Given the description of an element on the screen output the (x, y) to click on. 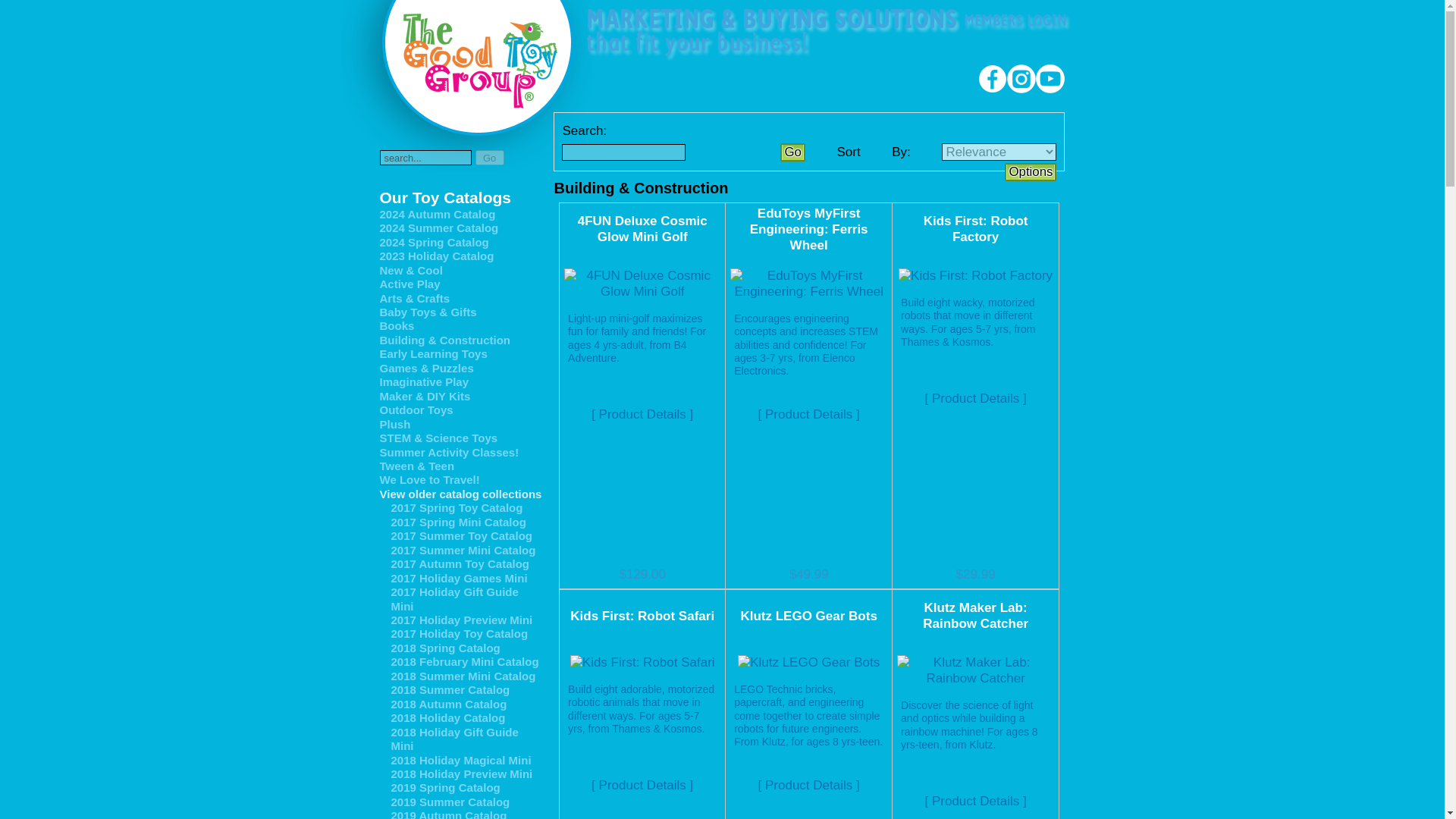
2024 Summer Catalog (459, 228)
Options (1030, 171)
Like us on Facebook! (992, 89)
Members Login (1014, 25)
Check out our YouTube channel! (1049, 89)
Go (792, 152)
Go (792, 152)
Our Toy Catalogs (459, 198)
search... (424, 157)
Go (488, 157)
Go (488, 157)
Go (488, 157)
search... (424, 157)
Like us on Facebook! (992, 78)
2024 Autumn Catalog (459, 214)
